Given the description of an element on the screen output the (x, y) to click on. 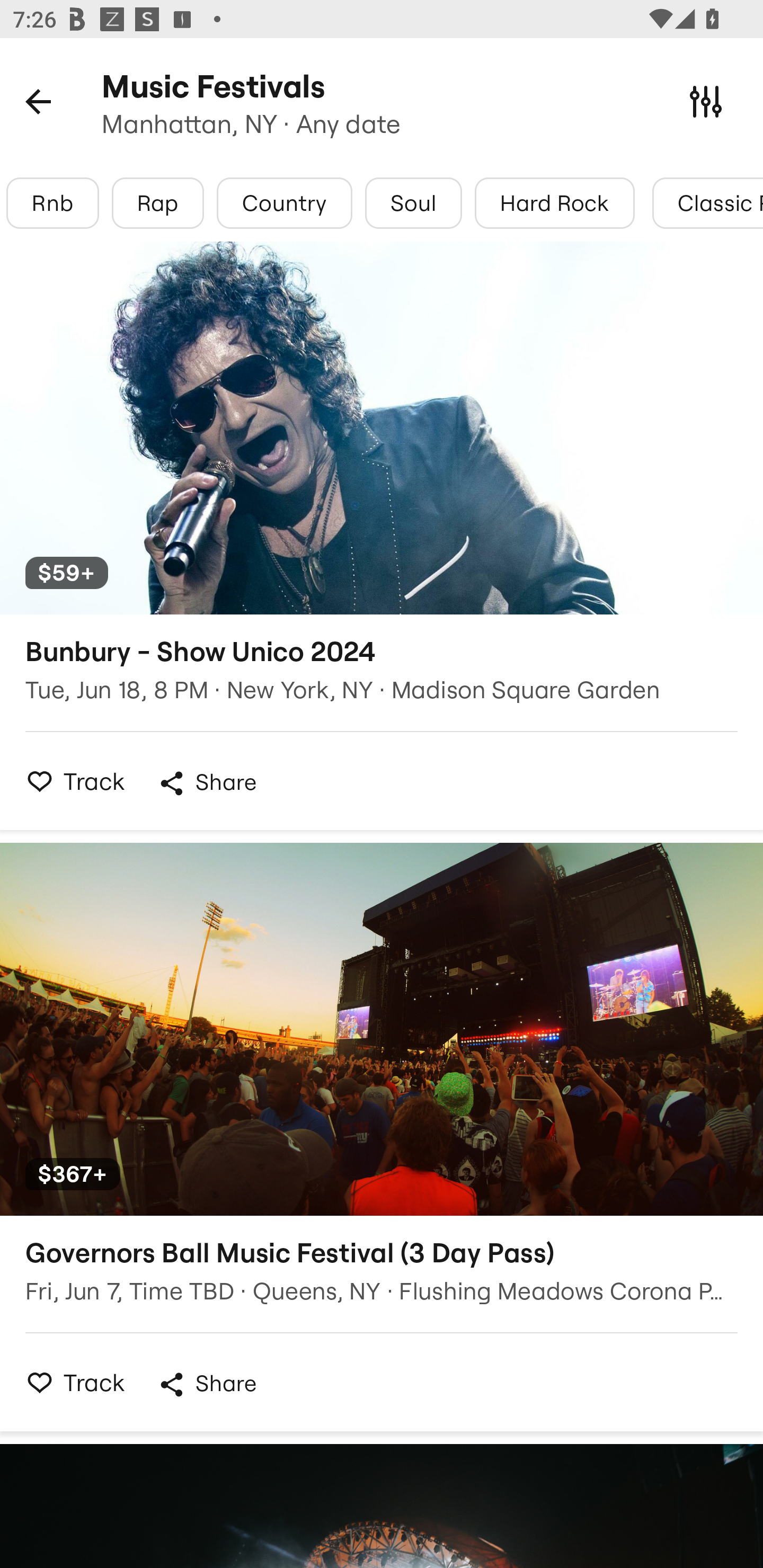
Back (38, 100)
Close (705, 100)
Rnb (52, 202)
Rap (157, 202)
Country (284, 202)
Soul (413, 202)
Hard Rock (554, 202)
Classic Rock (707, 202)
Track (70, 780)
Share (207, 783)
Track (70, 1381)
Share (207, 1384)
